Given the description of an element on the screen output the (x, y) to click on. 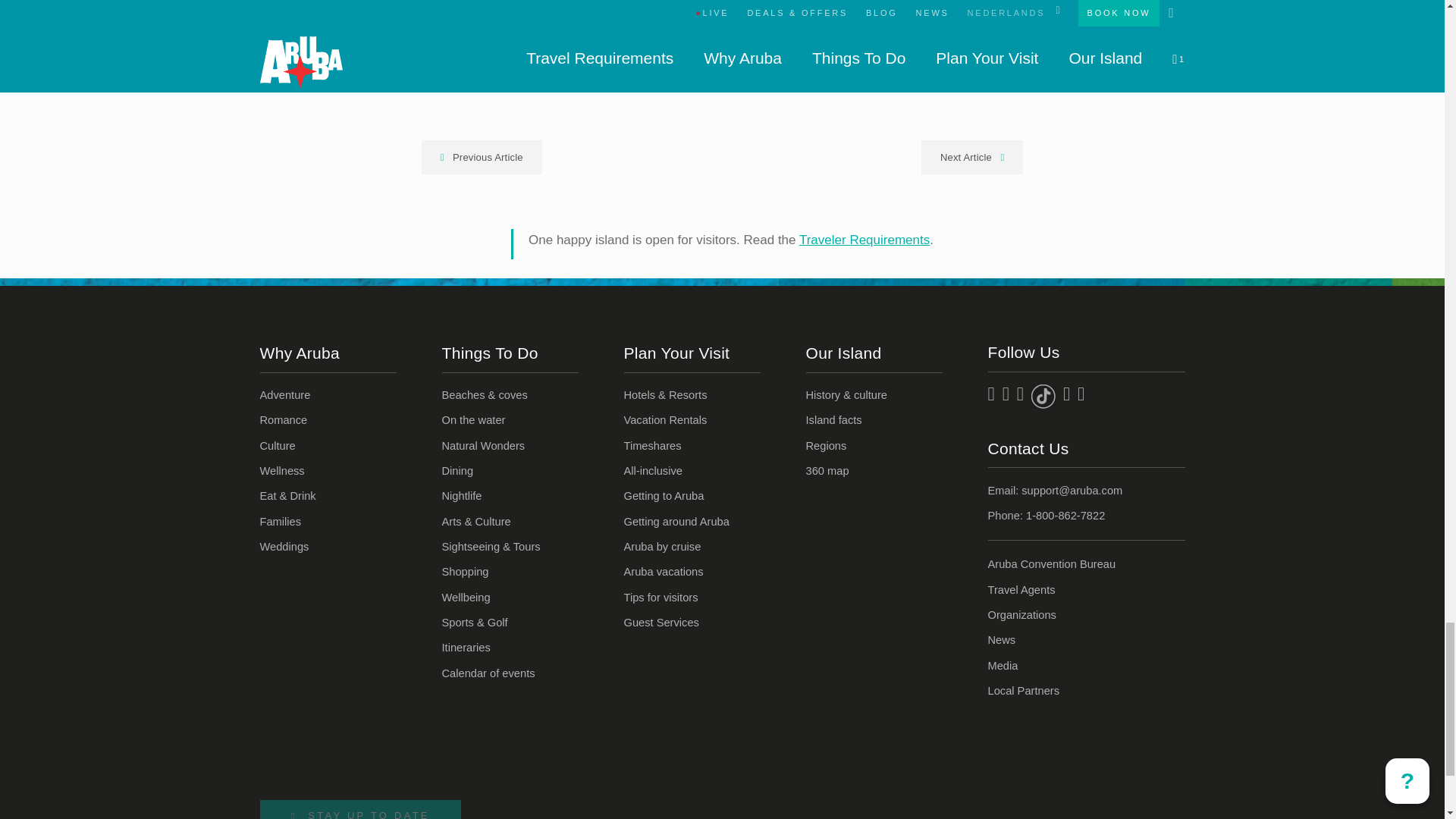
Barbulet Concierge Launch (722, 16)
